Given the description of an element on the screen output the (x, y) to click on. 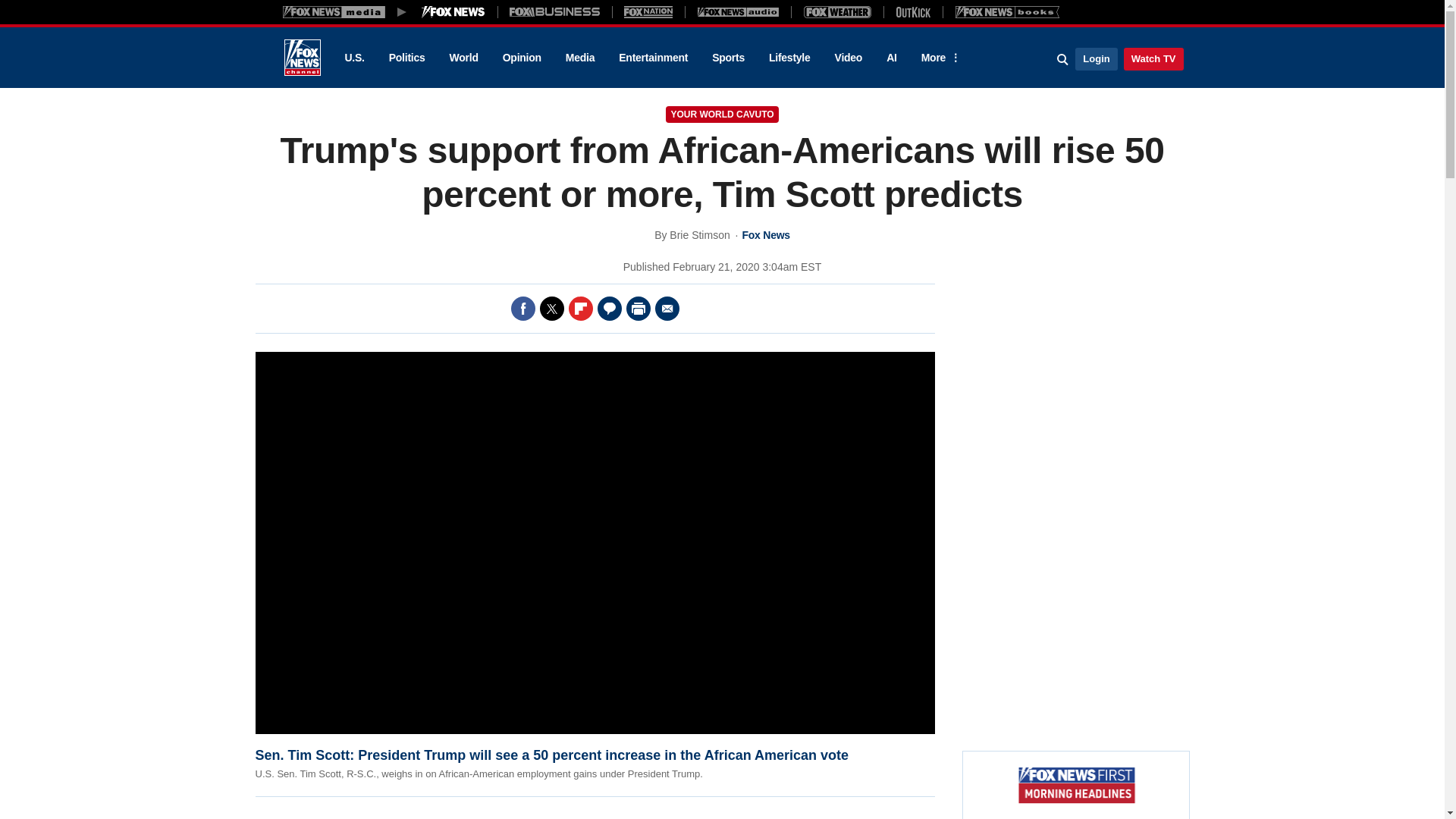
Fox Business (554, 11)
Opinion (521, 57)
Fox News Audio (737, 11)
U.S. (353, 57)
Entertainment (653, 57)
Media (580, 57)
Outkick (912, 11)
Lifestyle (789, 57)
Politics (407, 57)
Watch TV (1153, 58)
Fox News (301, 57)
More (938, 57)
Video (848, 57)
Fox News Media (453, 11)
Books (1007, 11)
